Given the description of an element on the screen output the (x, y) to click on. 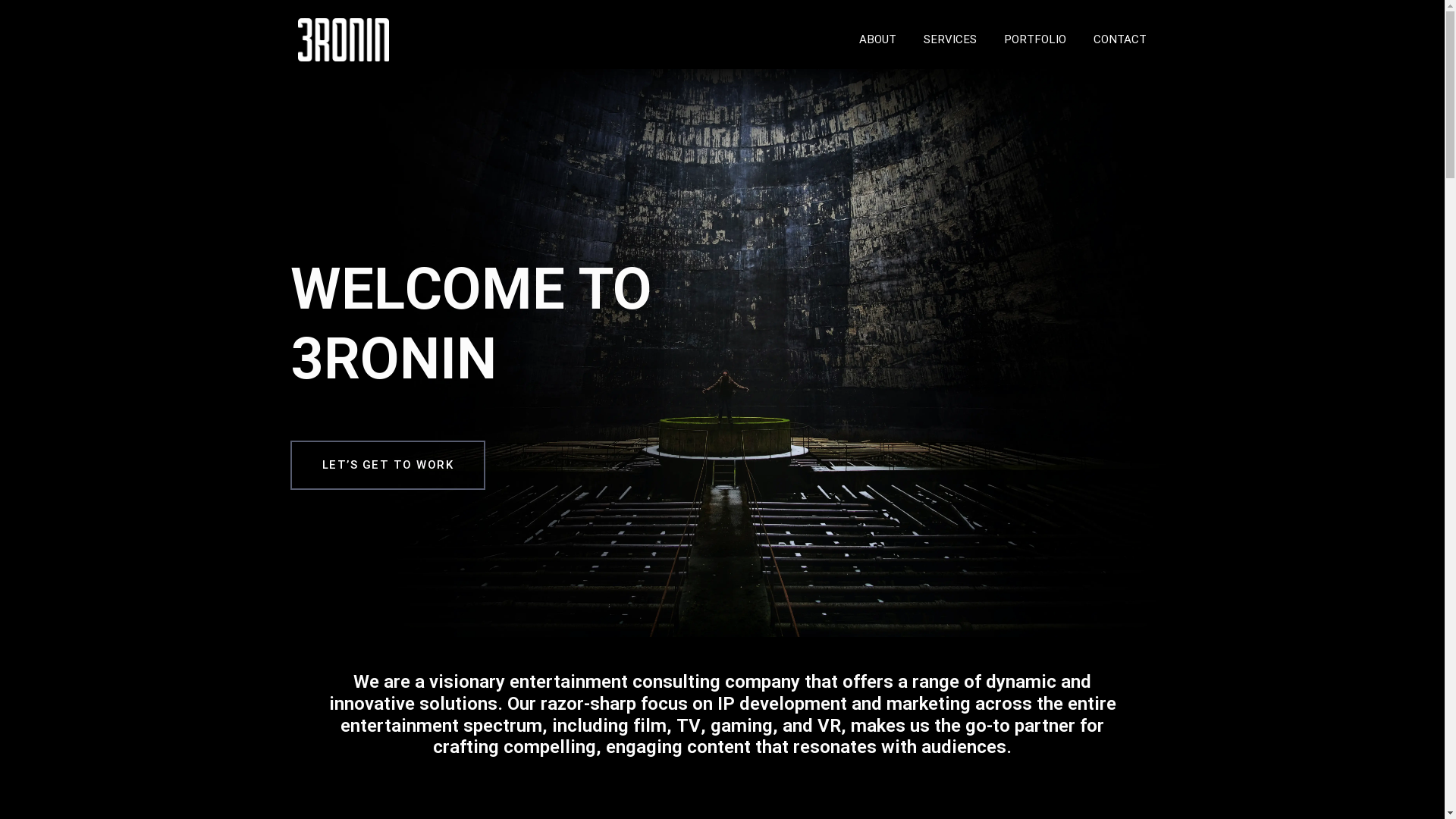
ABOUT Element type: text (877, 40)
CONTACT Element type: text (1119, 40)
SERVICES Element type: text (949, 40)
PORTFOLIO Element type: text (1035, 40)
